Given the description of an element on the screen output the (x, y) to click on. 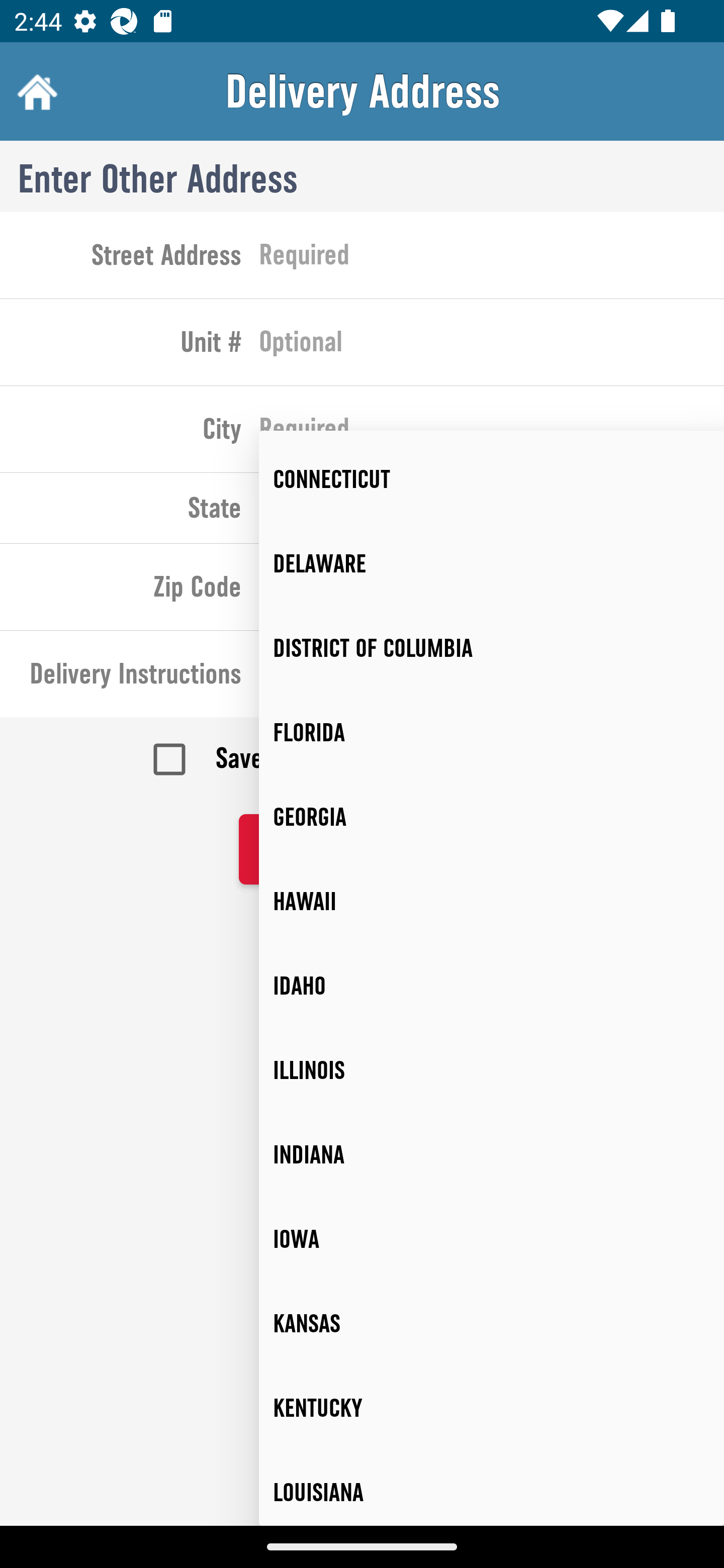
CONNECTICUT (491, 479)
DELAWARE (491, 564)
DISTRICT OF COLUMBIA (491, 647)
FLORIDA (491, 731)
GEORGIA (491, 816)
HAWAII (491, 901)
IDAHO (491, 985)
ILLINOIS (491, 1070)
INDIANA (491, 1154)
IOWA (491, 1238)
KANSAS (491, 1323)
KENTUCKY (491, 1407)
LOUISIANA (491, 1487)
